Given the description of an element on the screen output the (x, y) to click on. 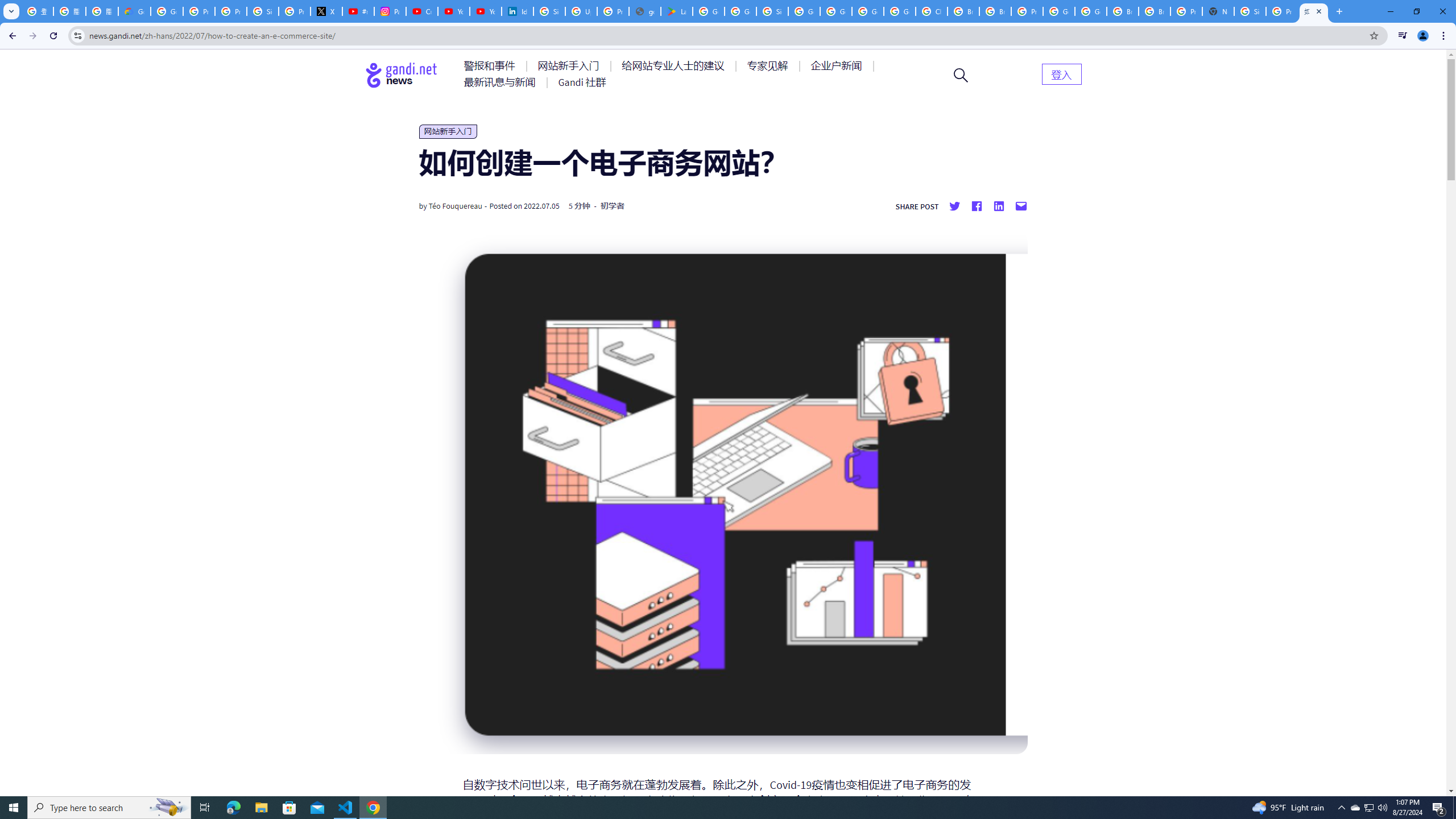
Identity verification via Persona | LinkedIn Help (517, 11)
Google Cloud Platform (1091, 11)
Google Cloud Platform (1059, 11)
Google Cloud Privacy Notice (134, 11)
AutomationID: menu-item-77765 (838, 65)
AutomationID: menu-item-82399 (1061, 73)
